Given the description of an element on the screen output the (x, y) to click on. 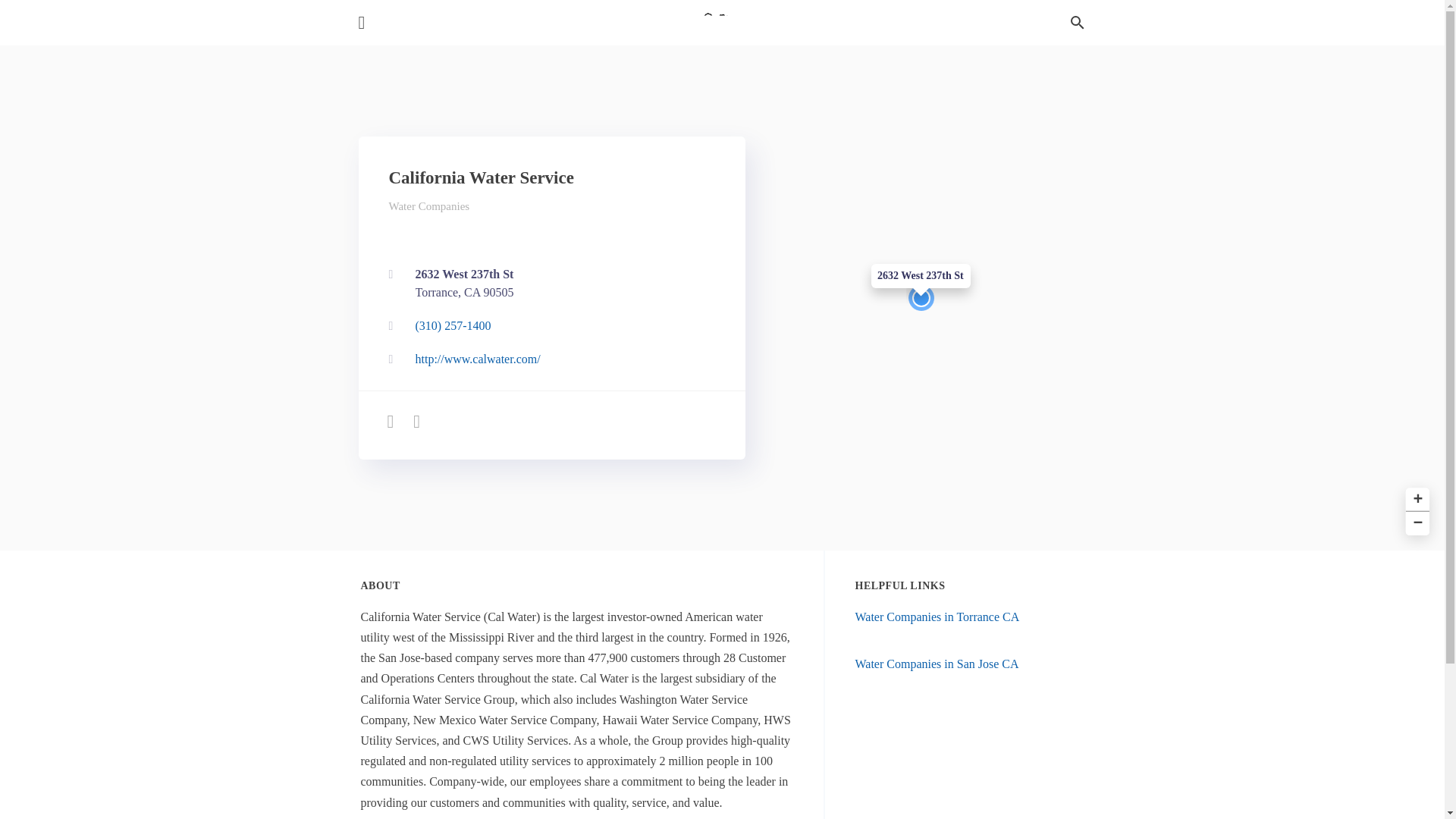
Open website in a new tab (547, 359)
Zoom out (1415, 521)
Zoom in (1415, 496)
Water Companies in San Jose CA (937, 663)
Water Companies in Torrance CA (938, 616)
Search business collapsed (547, 283)
Water Companies (1076, 22)
Get directions (428, 205)
Call Phone Number (547, 283)
